Given the description of an element on the screen output the (x, y) to click on. 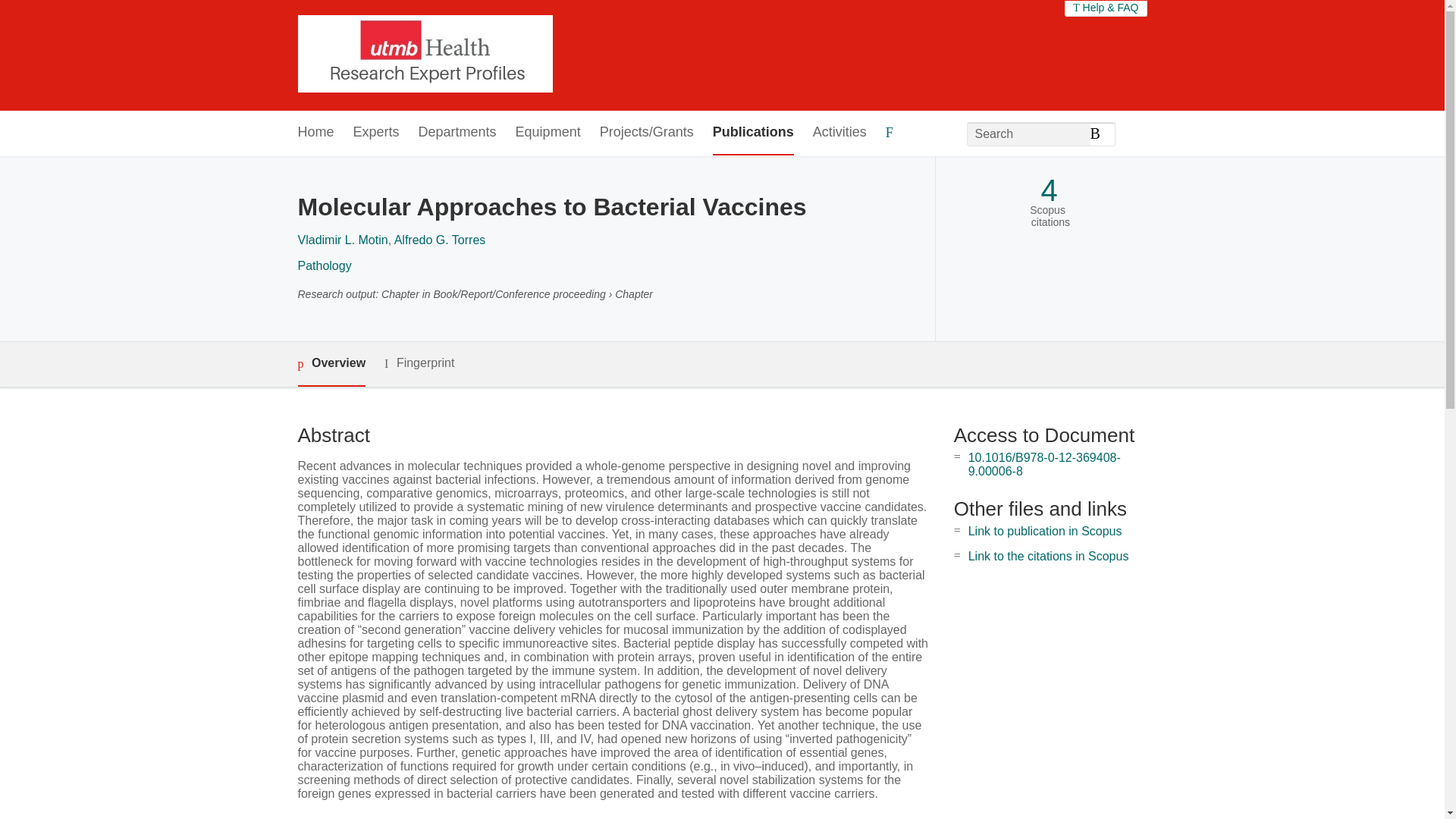
Activities (839, 132)
Departments (457, 132)
Alfredo G. Torres (440, 239)
Publications (753, 132)
UTMB Health Research Expert Profiles Home (424, 55)
Experts (375, 132)
Link to publication in Scopus (1045, 530)
Link to the citations in Scopus (1048, 555)
Vladimir L. Motin (342, 239)
Pathology (323, 265)
